Given the description of an element on the screen output the (x, y) to click on. 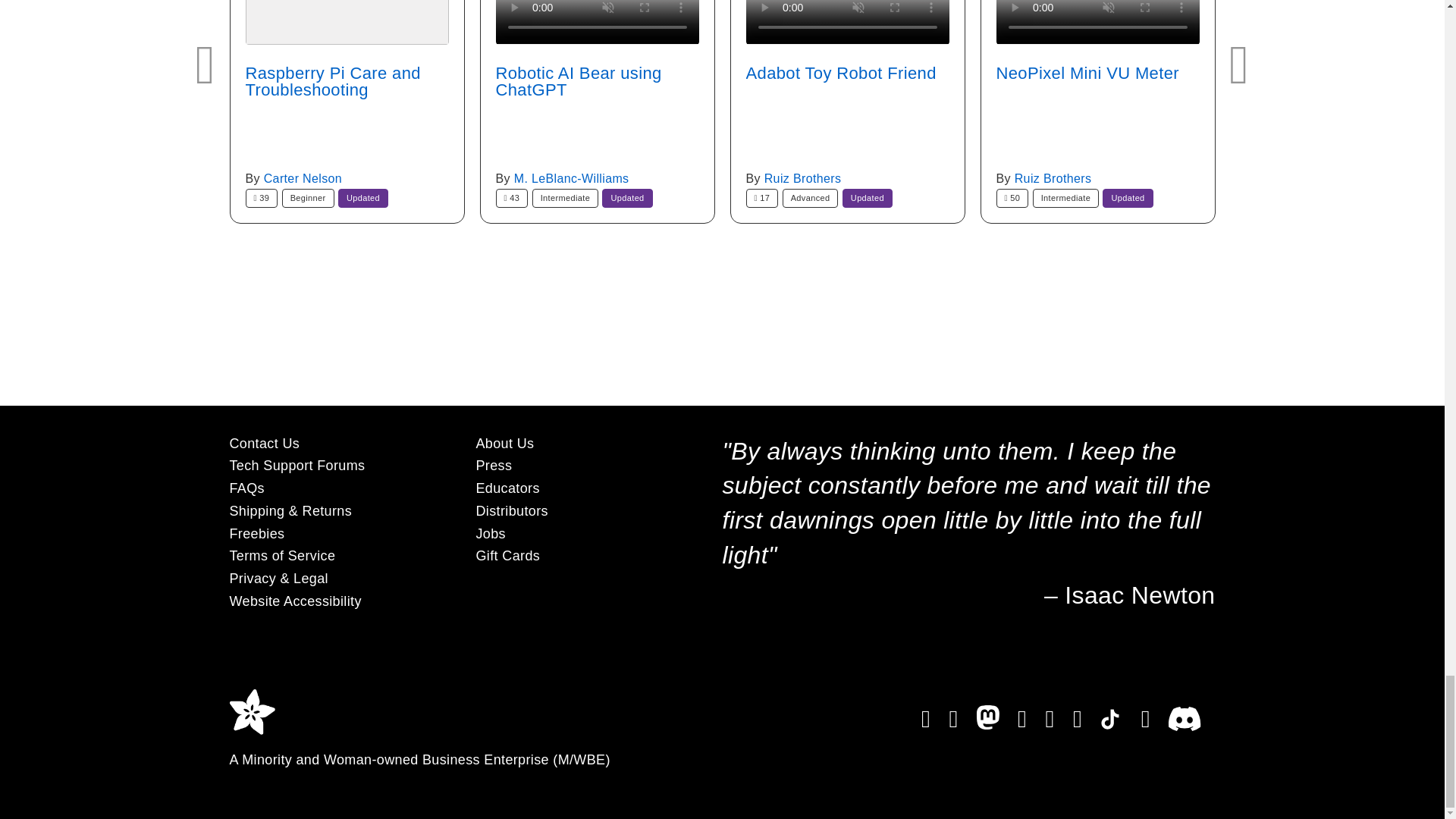
Saves (512, 198)
Saves (761, 198)
Saves (1012, 198)
Saves (262, 198)
